Given the description of an element on the screen output the (x, y) to click on. 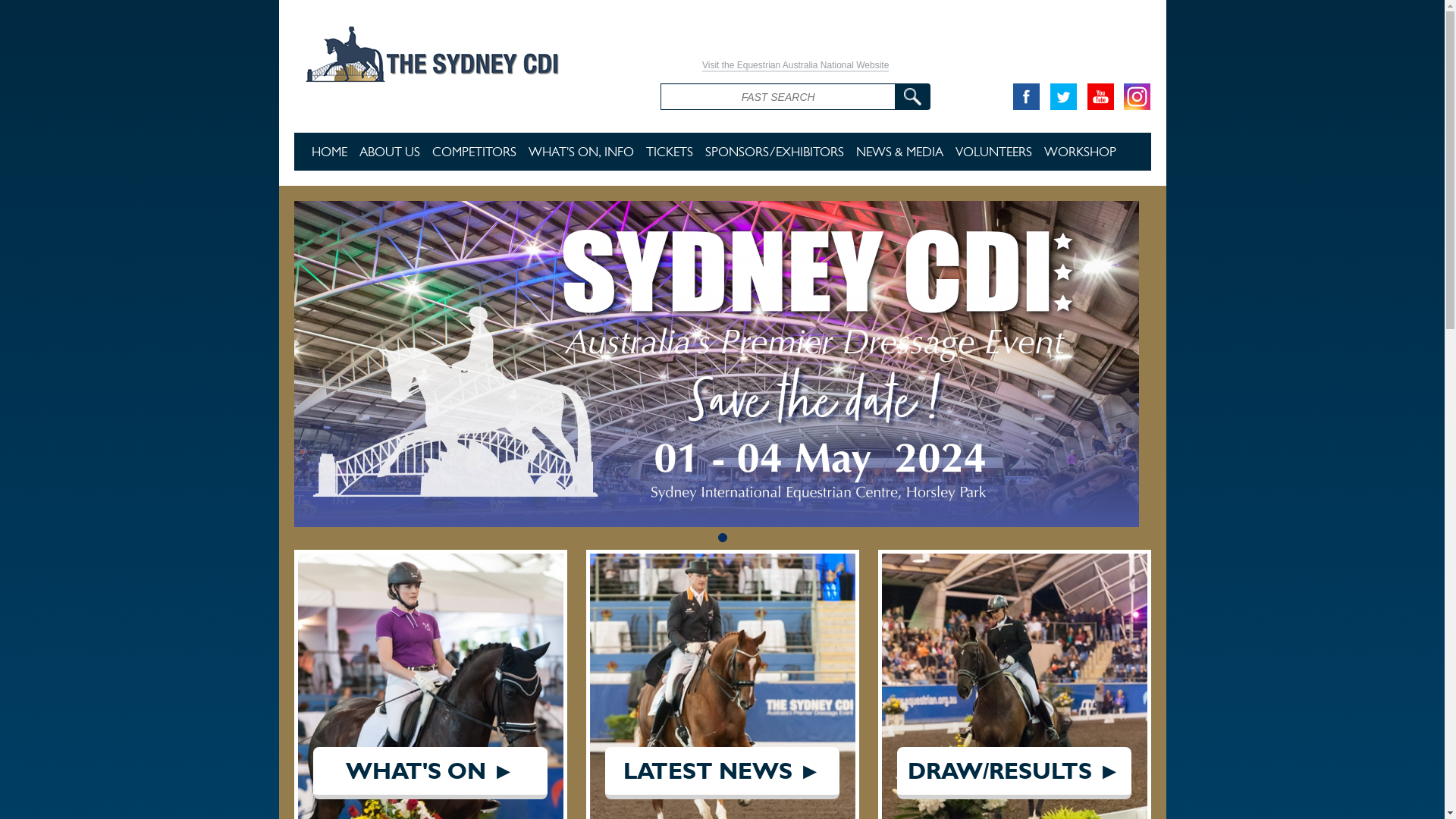
WORKSHOP Element type: text (1079, 151)
HOME Element type: text (328, 151)
NEWS & MEDIA Element type: text (898, 151)
SPONSORS/EXHIBITORS Element type: text (774, 151)
VOLUNTEERS Element type: text (993, 151)
Home Element type: hover (465, 51)
COMPETITORS Element type: text (474, 151)
ABOUT US Element type: text (389, 151)
Skip to main content Element type: text (48, 0)
Visit the Equestrian Australia National Website Element type: text (795, 65)
TICKETS Element type: text (669, 151)
WHAT'S ON, INFO Element type: text (580, 151)
